Given the description of an element on the screen output the (x, y) to click on. 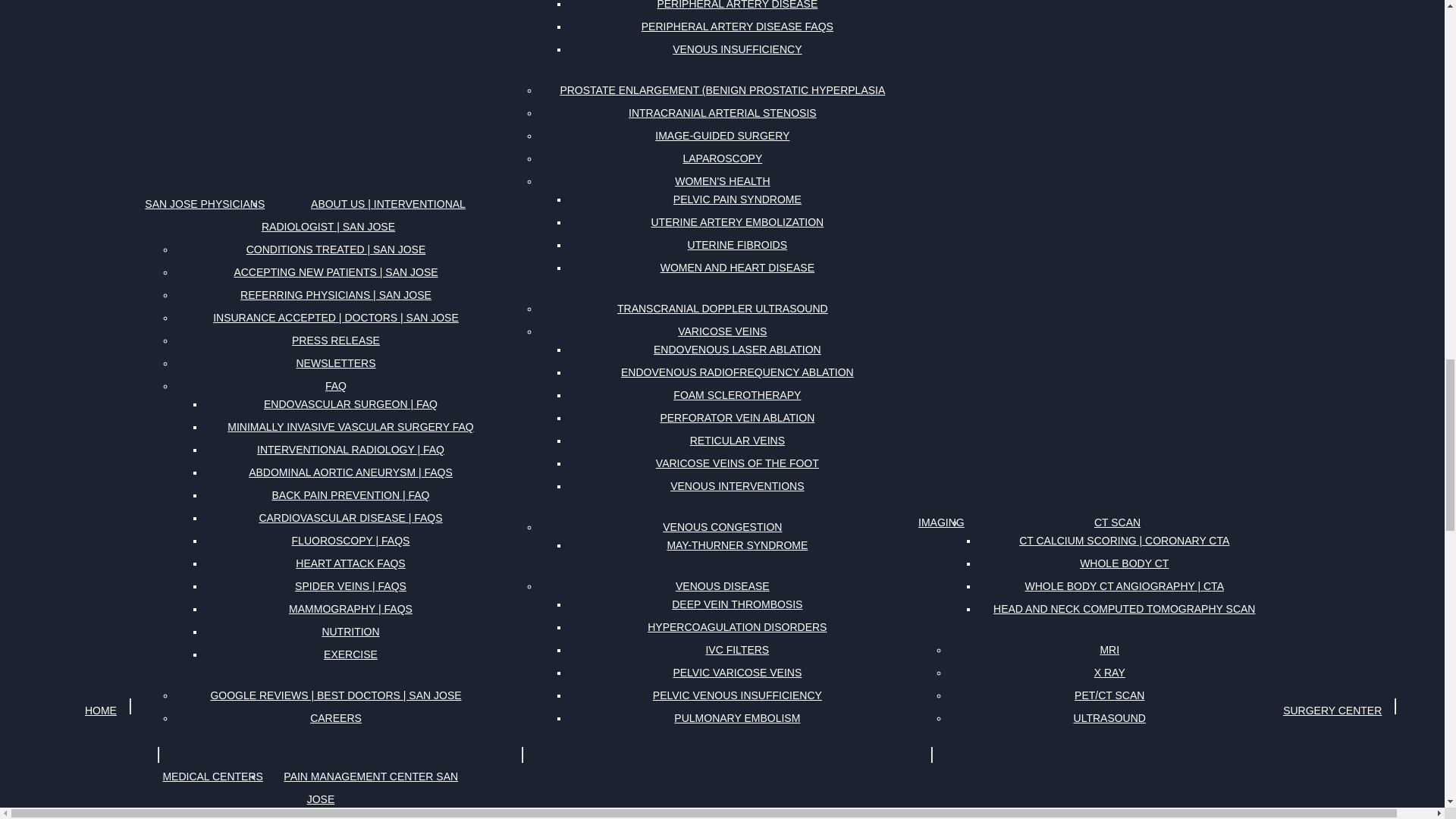
HOME (100, 710)
CAREERS (336, 717)
MINIMALLY INVASIVE VASCULAR SURGERY FAQ (349, 426)
EXERCISE (350, 654)
NEWSLETTERS (335, 362)
HEART ATTACK FAQS (350, 563)
PRESS RELEASE (335, 340)
FAQ (335, 385)
NUTRITION (349, 631)
SAN JOSE PHYSICIANS (204, 203)
